Given the description of an element on the screen output the (x, y) to click on. 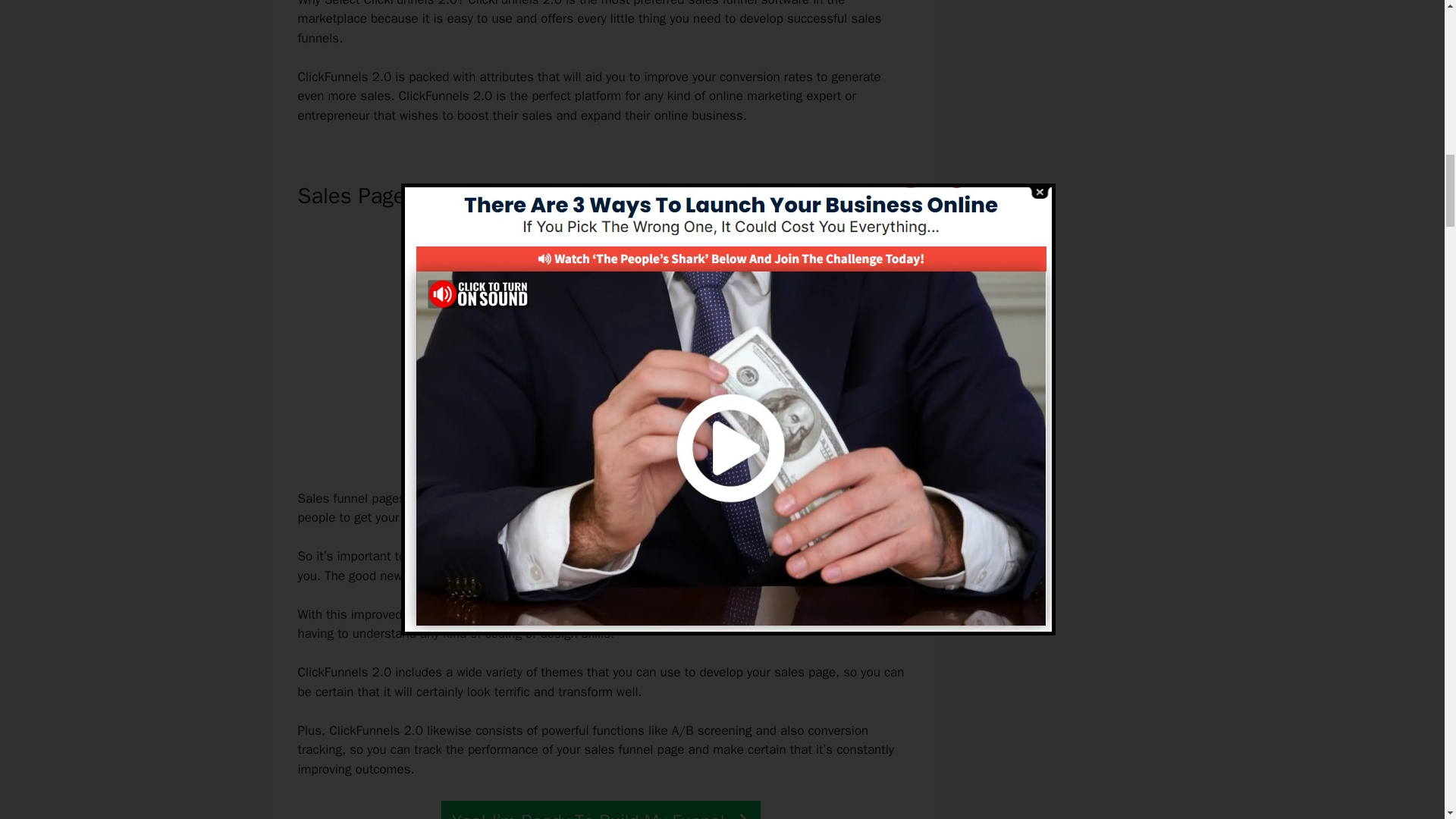
YouTube video player (596, 344)
